Given the description of an element on the screen output the (x, y) to click on. 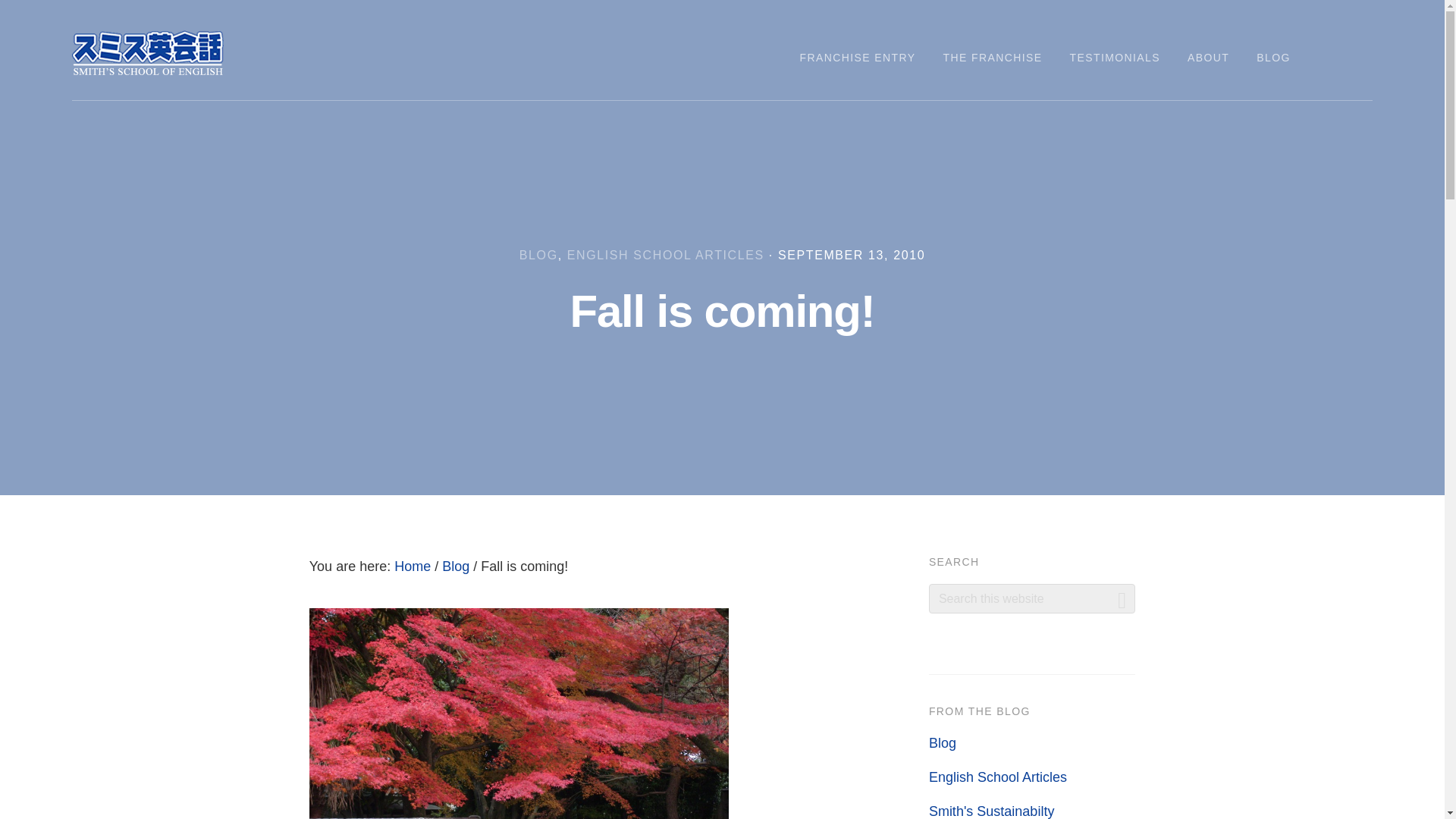
Blog (455, 566)
TESTIMONIALS (1115, 57)
Home (412, 566)
Smith's School of English (147, 54)
BLOG (538, 254)
ABOUT (1208, 57)
FRANCHISE ENTRY (857, 57)
Search (1120, 598)
THE FRANCHISE (992, 57)
ENGLISH SCHOOL ARTICLES (665, 254)
Search (1120, 598)
